Given the description of an element on the screen output the (x, y) to click on. 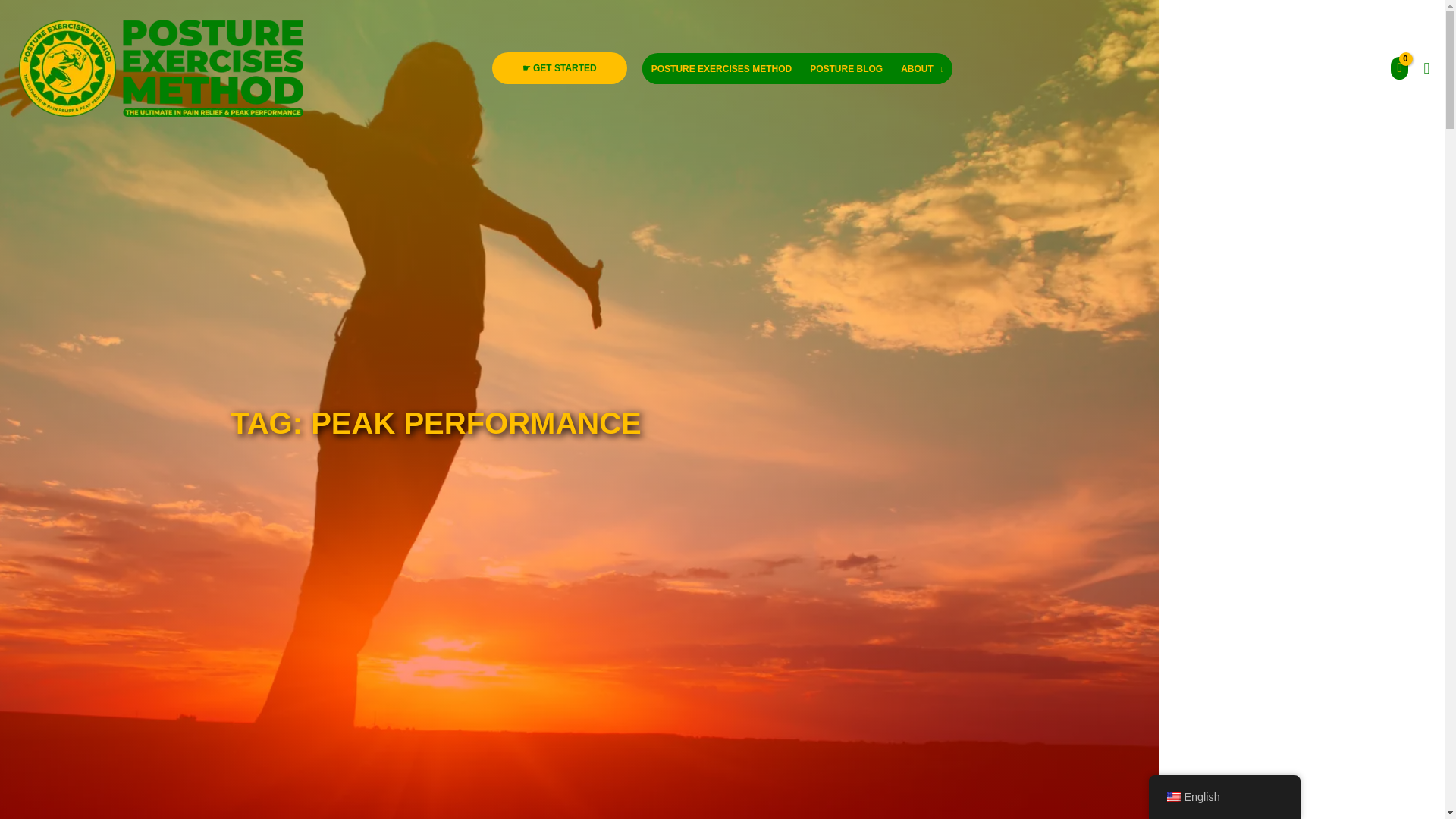
English (1172, 796)
POSTURE BLOG (845, 68)
ABOUT (921, 68)
POSTURE EXERCISES METHOD (721, 68)
